Given the description of an element on the screen output the (x, y) to click on. 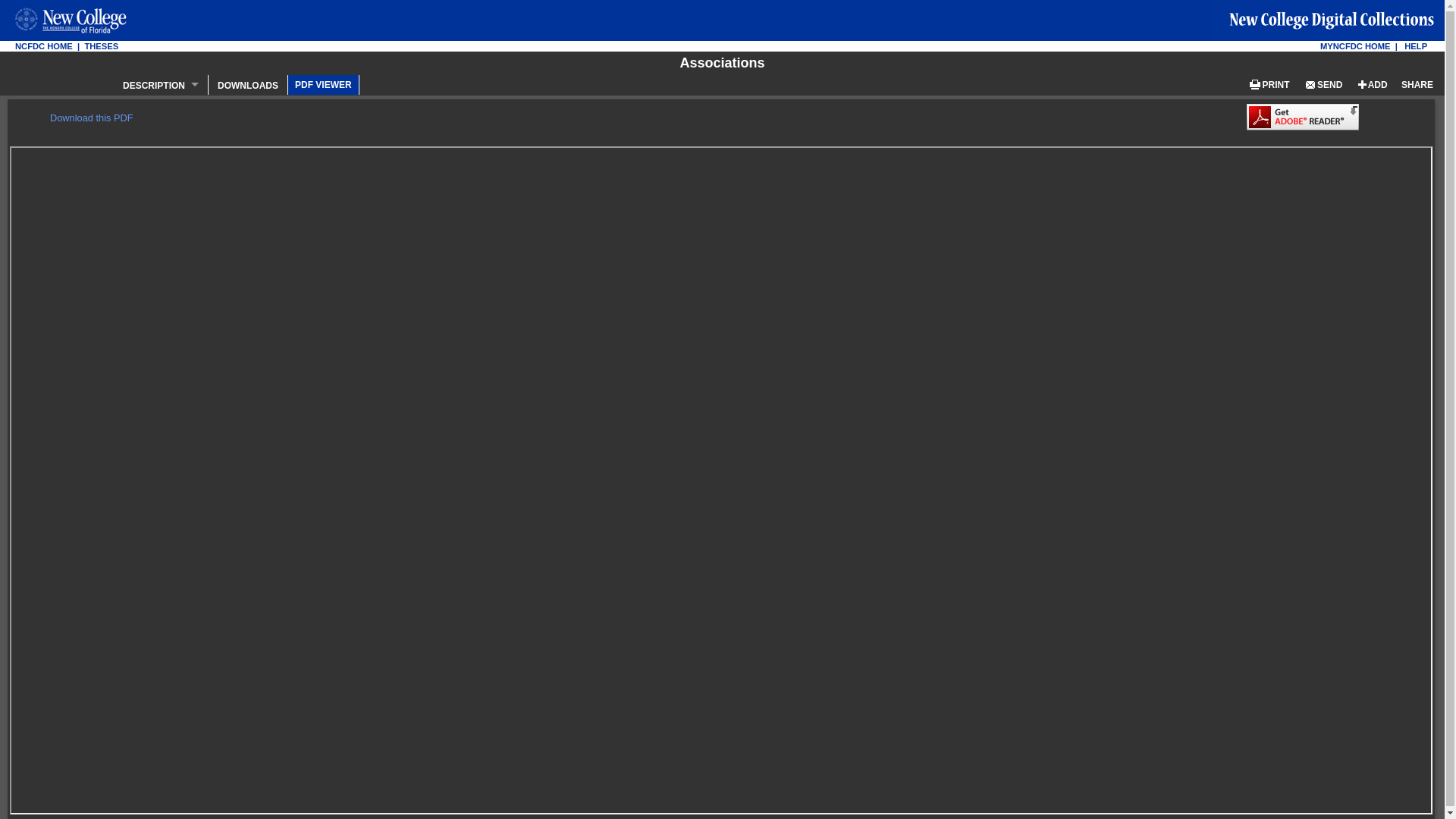
Download this PDF (91, 117)
DESCRIPTION (160, 84)
HELP (1415, 45)
THESES (100, 45)
DOWNLOADS (248, 84)
NCFDC HOME (43, 45)
MYNCFDC HOME (1355, 45)
